Given the description of an element on the screen output the (x, y) to click on. 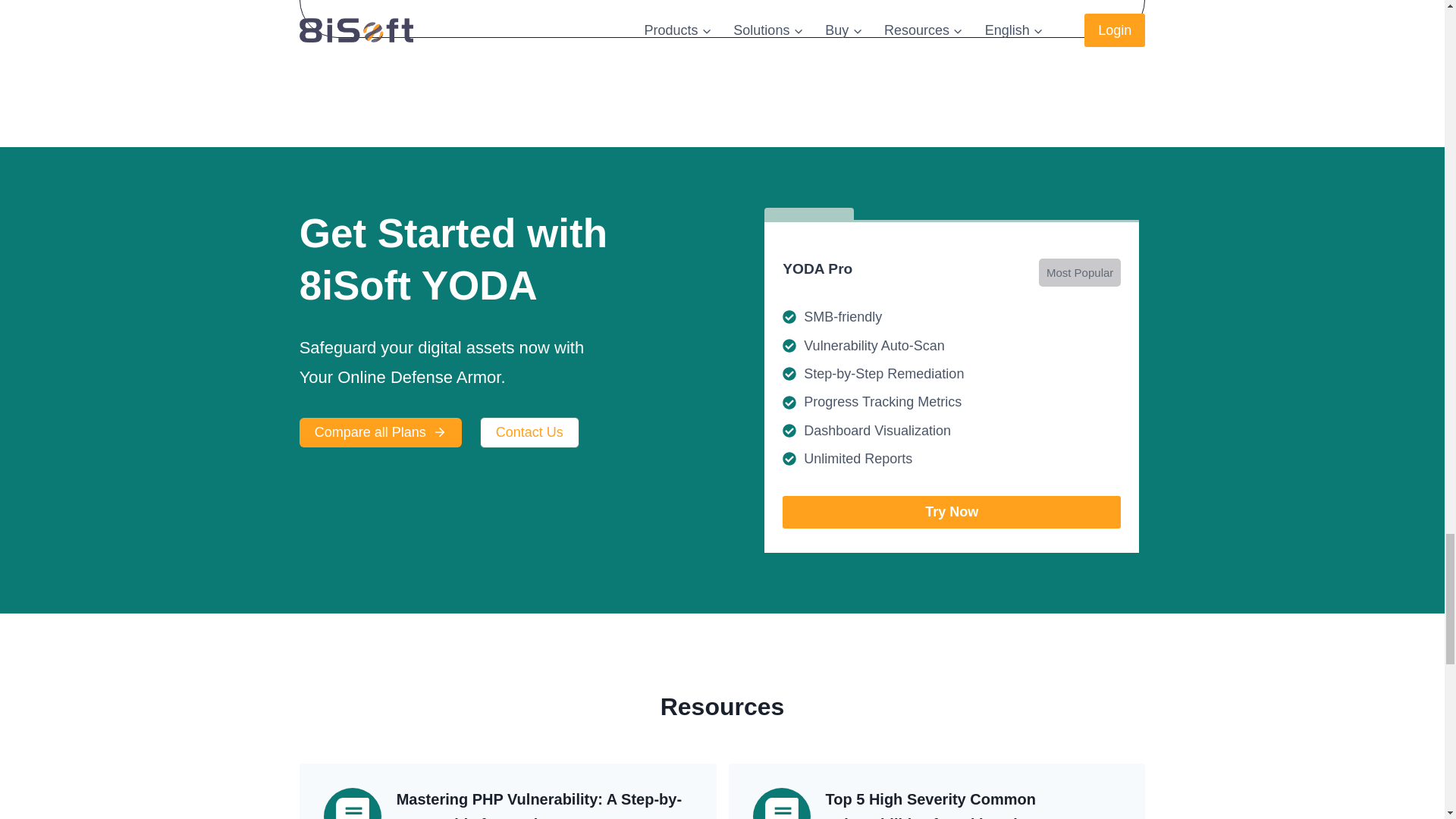
Compare all Plans (380, 432)
Contact Us (529, 431)
Try Now (952, 512)
